Given the description of an element on the screen output the (x, y) to click on. 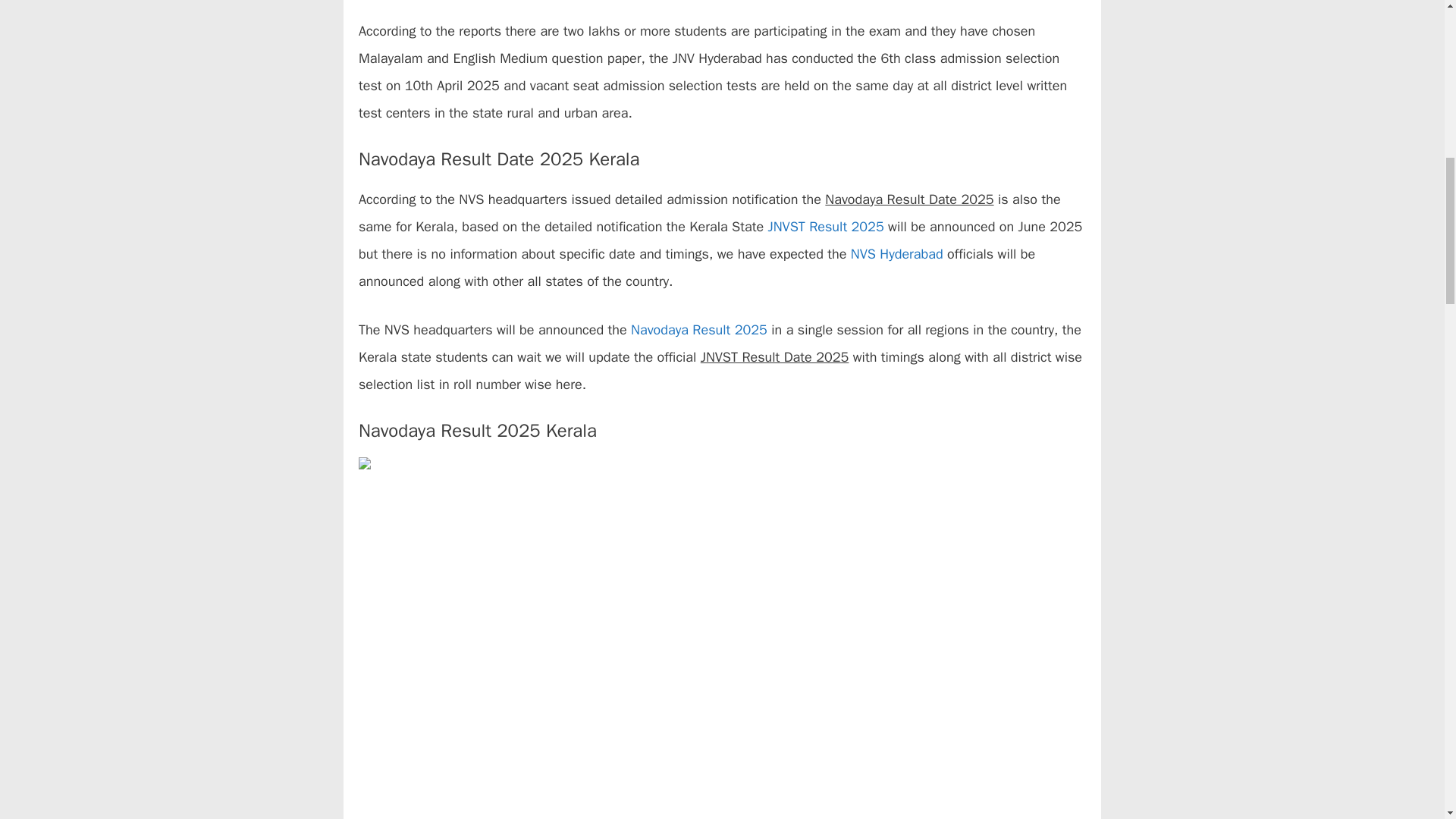
NVS Hyderabad (896, 253)
Navodaya Result 2025 (698, 329)
JNVST Result 2025 (825, 226)
